Given the description of an element on the screen output the (x, y) to click on. 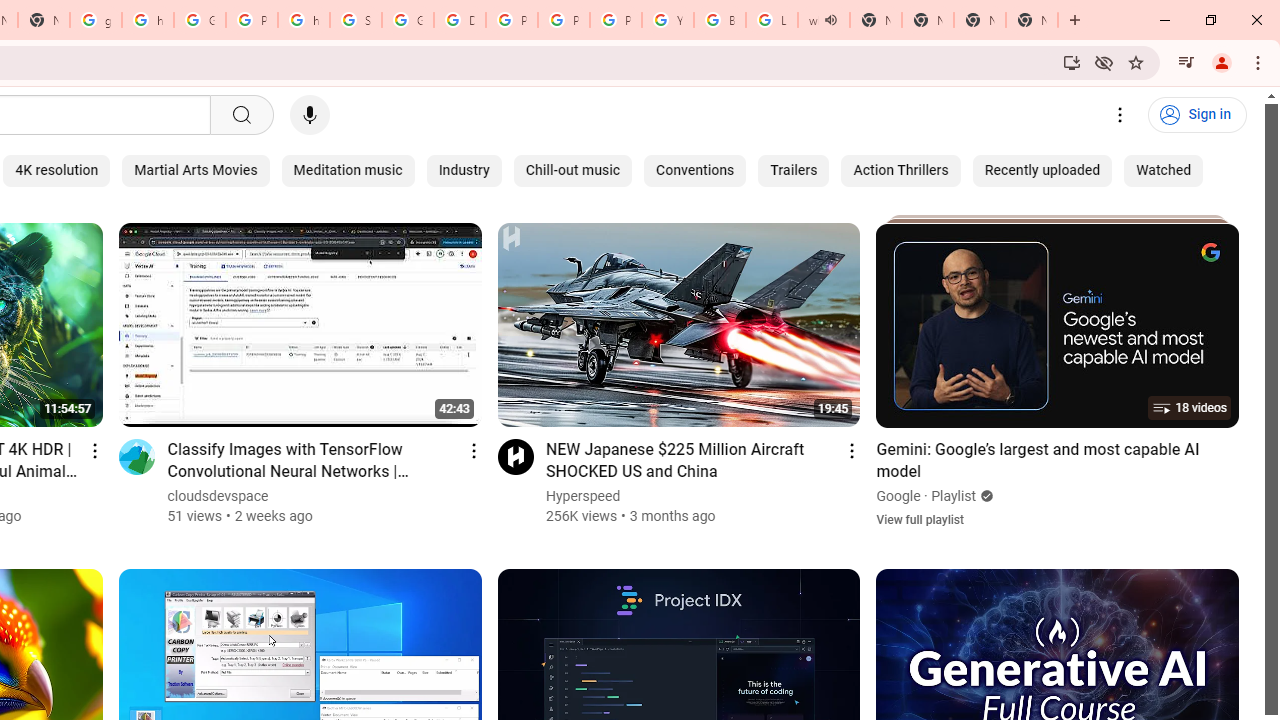
https://scholar.google.com/ (147, 20)
Martial Arts Movies (195, 170)
Chill-out music (573, 170)
New Tab (1032, 20)
Install YouTube (1071, 62)
View full playlist (920, 519)
